Given the description of an element on the screen output the (x, y) to click on. 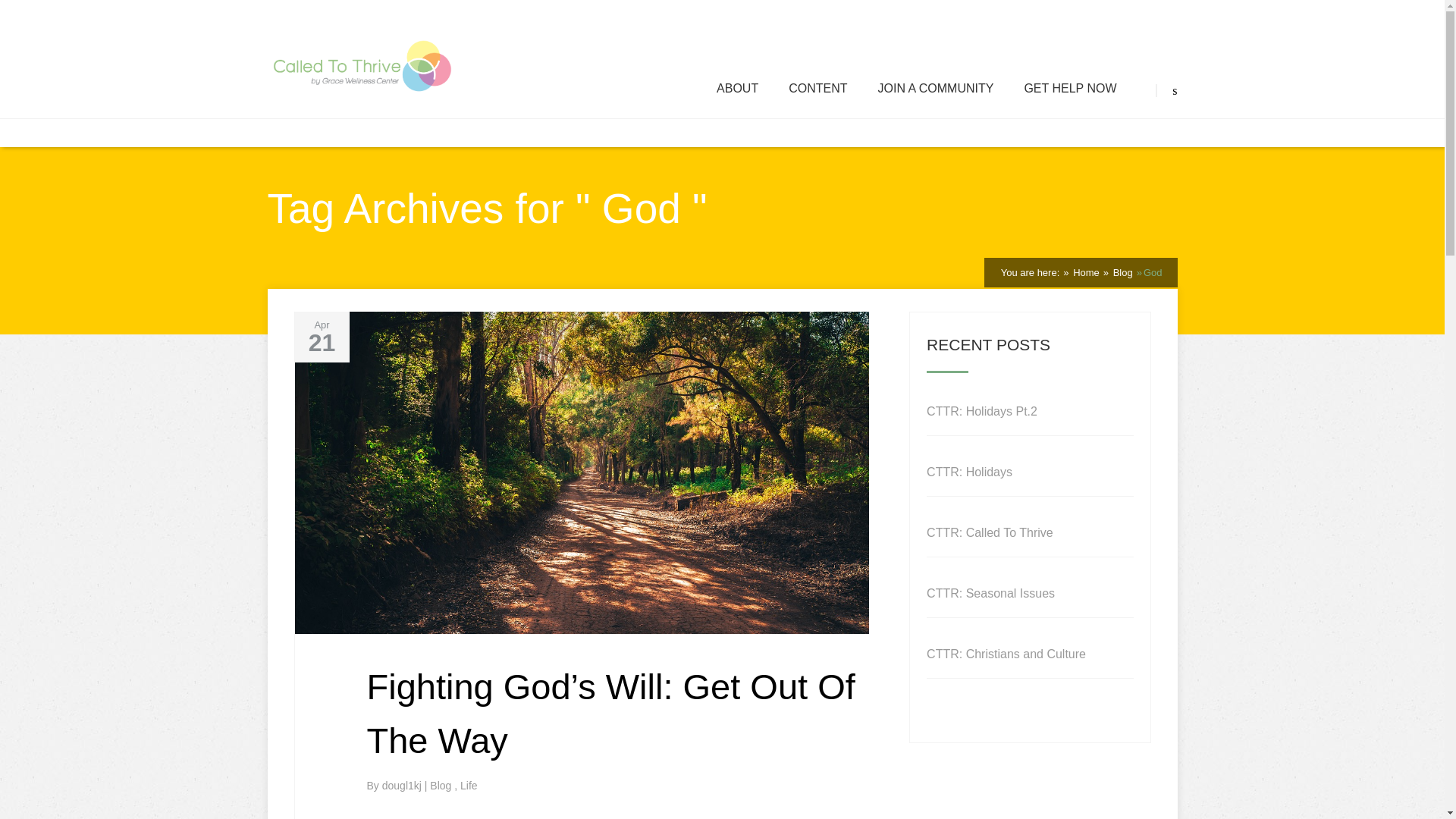
JOIN A COMMUNITY (934, 88)
Blog (441, 785)
CTTR: Holidays Pt.2 (981, 411)
CTTR: Seasonal Issues (990, 593)
CTTR: Called To Thrive (989, 532)
Life (468, 785)
Blog (1120, 272)
CONTENT (818, 88)
CTTR: Christians and Culture (1006, 654)
ABOUT (737, 88)
